Given the description of an element on the screen output the (x, y) to click on. 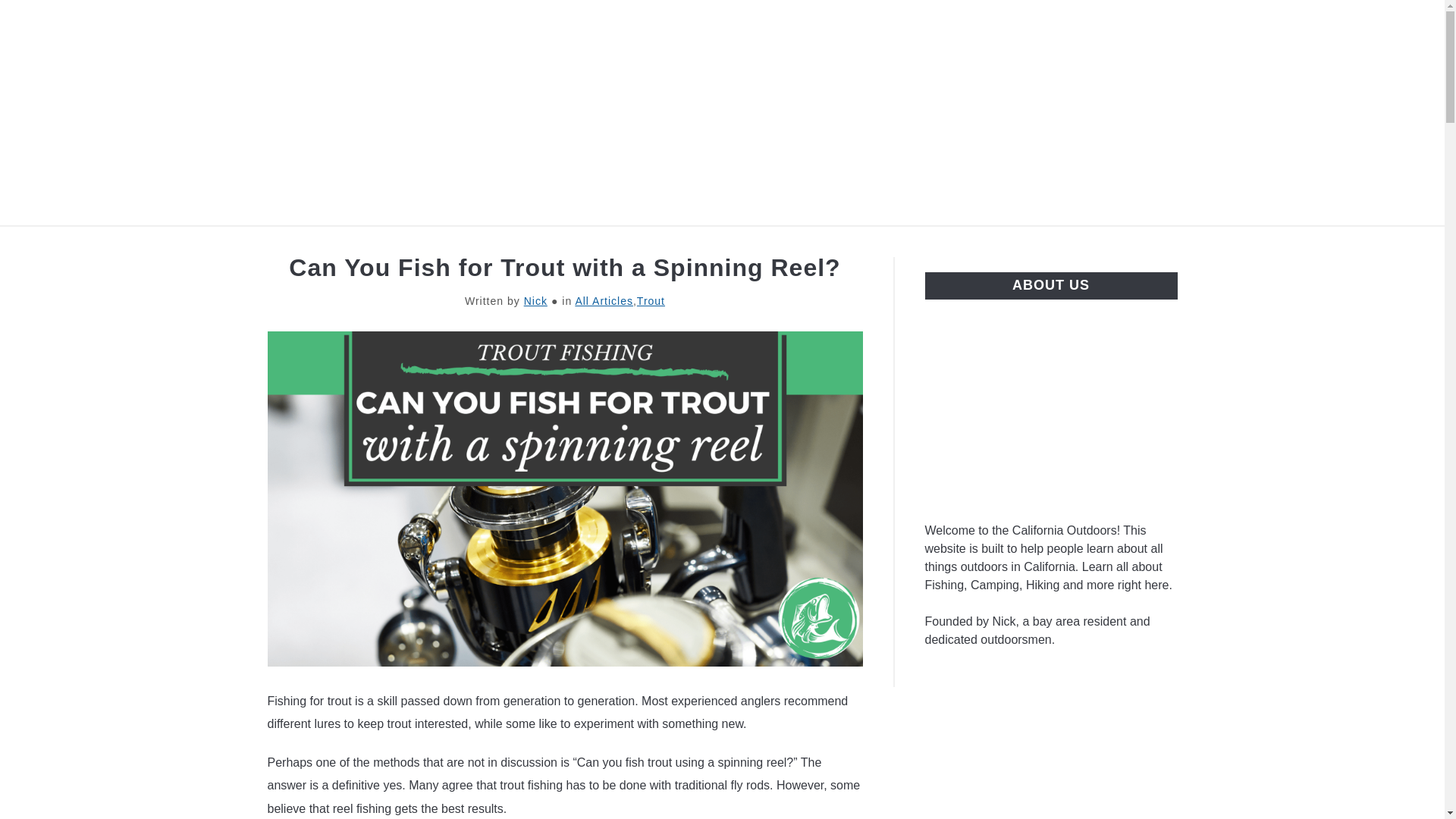
FISHING (668, 243)
Search (1203, 112)
Nick (535, 300)
All Articles (604, 300)
YOSEMITE (767, 243)
Trout (651, 300)
